Given the description of an element on the screen output the (x, y) to click on. 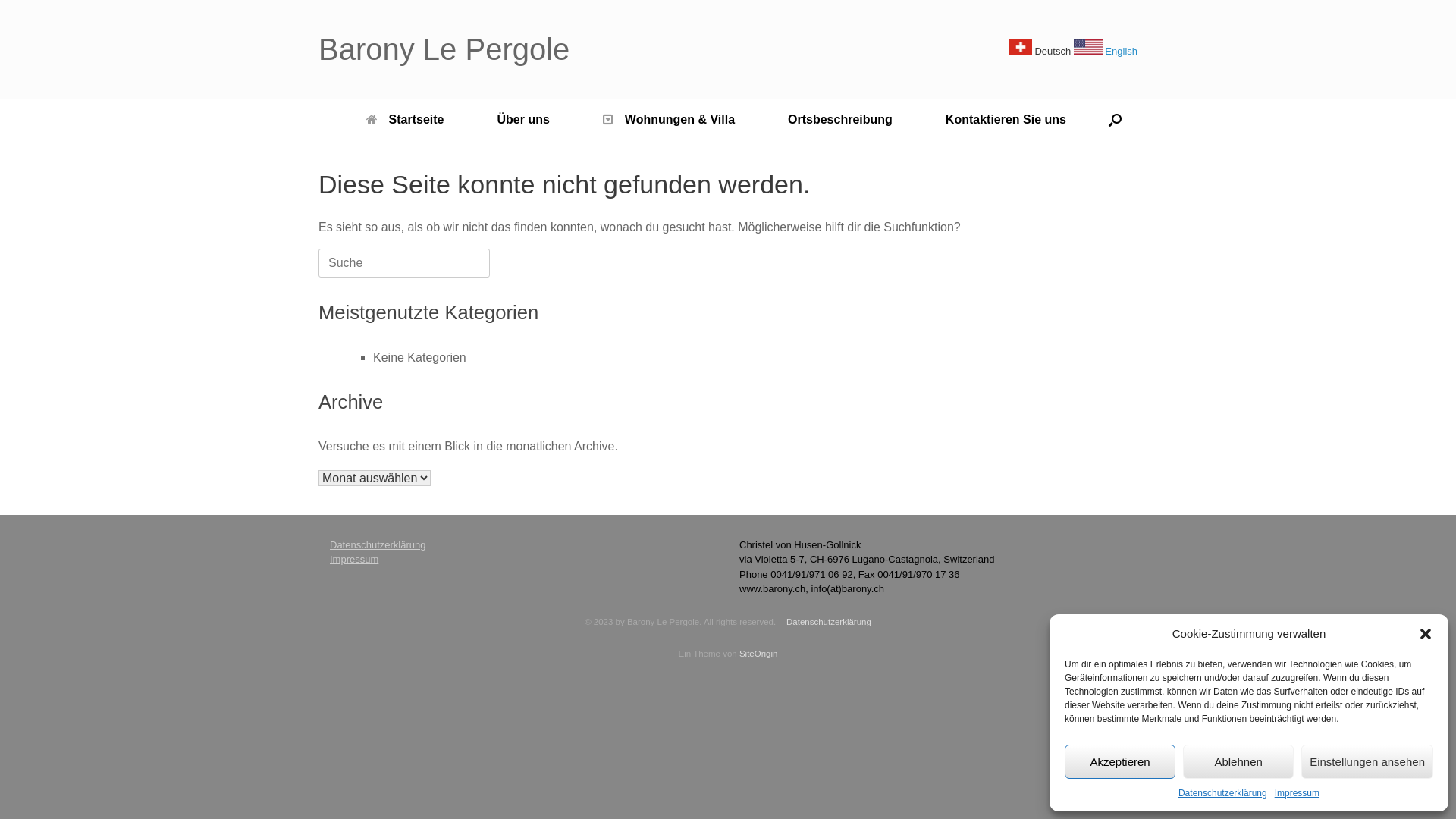
Impressum Element type: text (1296, 793)
Barony Le Pergole Element type: text (443, 49)
Impressum Element type: text (353, 558)
Kontaktieren Sie uns Element type: text (1005, 119)
 English Element type: text (1105, 50)
Akzeptieren Element type: text (1119, 761)
Ablehnen Element type: text (1238, 761)
Wohnungen & Villa Element type: text (668, 119)
Startseite Element type: text (404, 119)
Ortsbeschreibung Element type: text (840, 119)
SiteOrigin Element type: text (758, 653)
Einstellungen ansehen Element type: text (1367, 761)
